Given the description of an element on the screen output the (x, y) to click on. 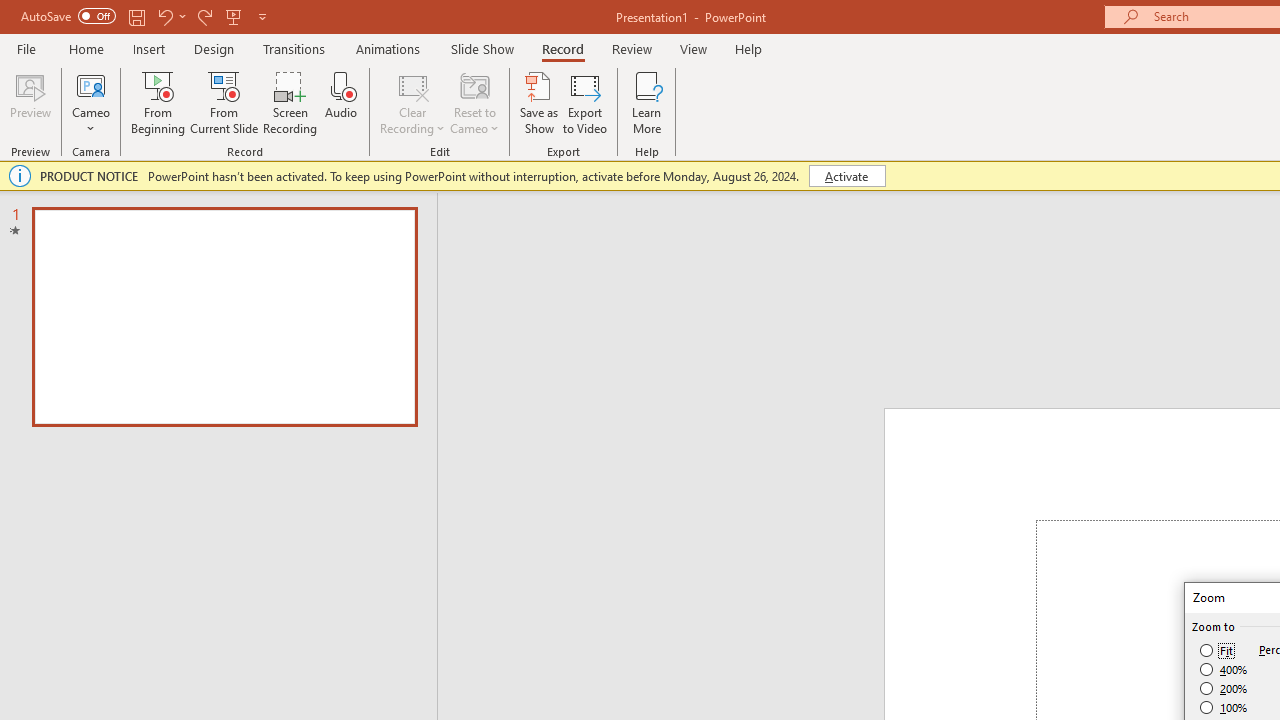
Activate (846, 175)
